Given the description of an element on the screen output the (x, y) to click on. 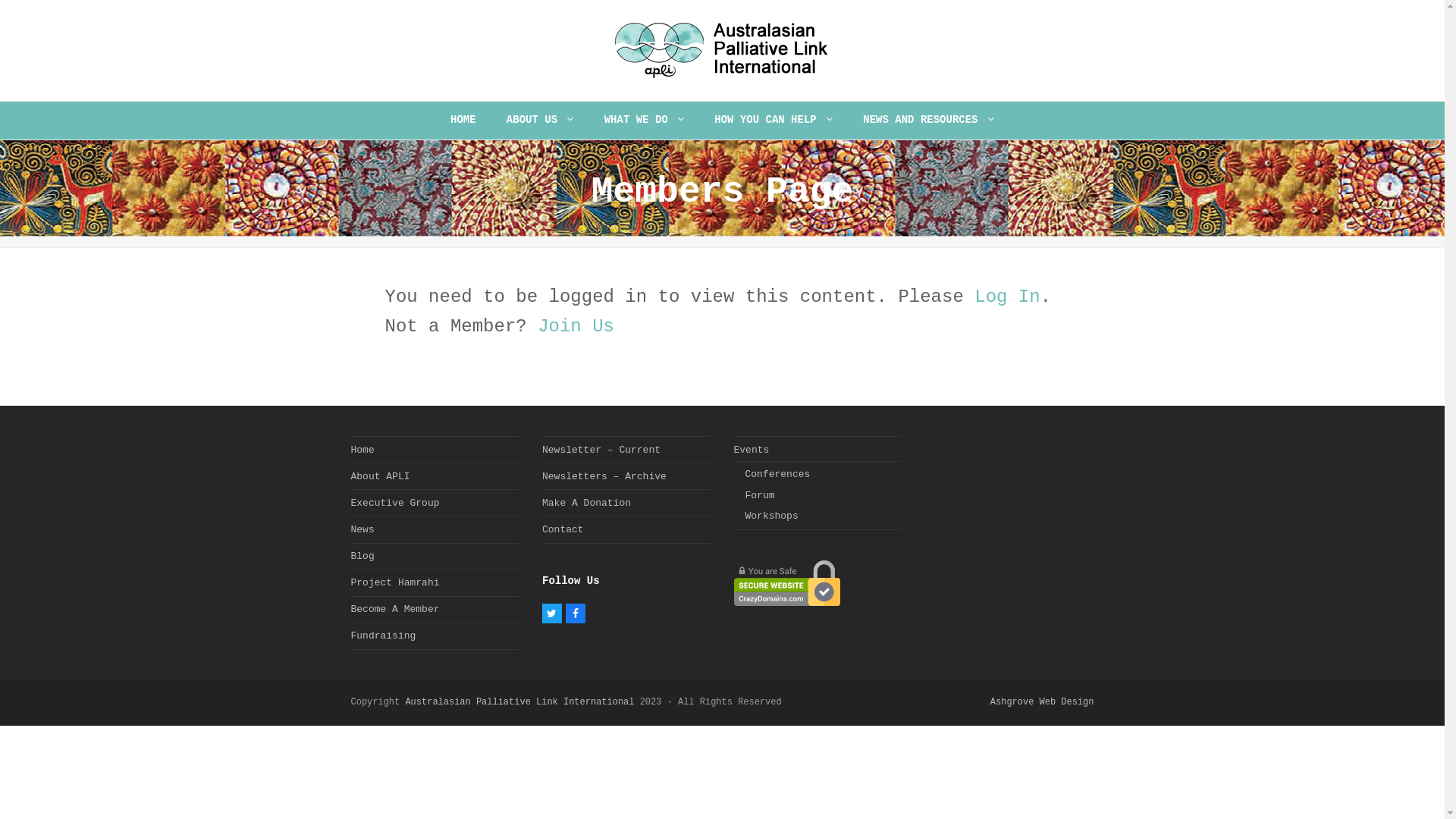
Join Us Element type: text (575, 326)
Become A Member Element type: text (394, 609)
News Element type: text (361, 529)
Workshops Element type: text (770, 515)
Ashgrove Web Design Element type: text (1042, 701)
Log In Element type: text (1006, 296)
Contact Element type: text (562, 529)
Conferences Element type: text (776, 474)
Australasian Palliative Link International Element type: text (518, 701)
Forum Element type: text (759, 495)
WHAT WE DO Element type: text (643, 120)
Blog Element type: text (361, 555)
NEWS AND RESOURCES Element type: text (928, 120)
Twitter Element type: text (551, 613)
Fundraising Element type: text (382, 635)
About APLI Element type: text (379, 476)
ABOUT US Element type: text (540, 120)
Executive Group Element type: text (394, 502)
HOME Element type: text (463, 120)
Project Hamrahi Element type: text (394, 582)
HOW YOU CAN HELP Element type: text (773, 120)
Events Element type: text (751, 449)
Home Element type: text (361, 449)
Make A Donation Element type: text (586, 502)
Facebook Element type: text (575, 613)
